Given the description of an element on the screen output the (x, y) to click on. 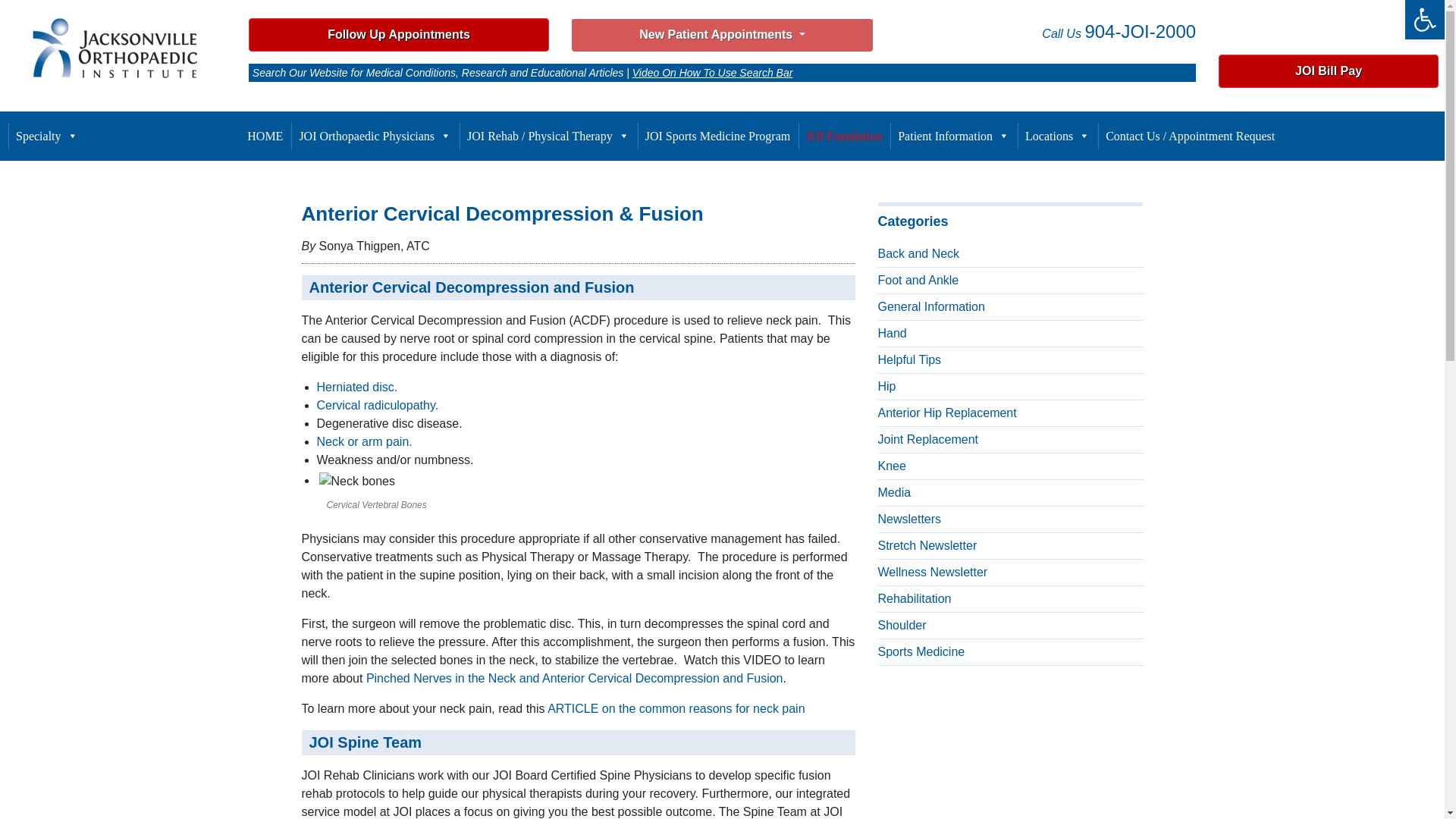
HOME (264, 135)
Video On How To Use Search Bar (712, 72)
JOI Bill Pay (1328, 70)
JOI Orthopaedic Physicians (374, 135)
Accessibility Tools (1424, 19)
Accessibility Tools (1424, 19)
Specialty (46, 135)
Follow Up Appointments (398, 33)
New Patient Appointments (722, 34)
